Given the description of an element on the screen output the (x, y) to click on. 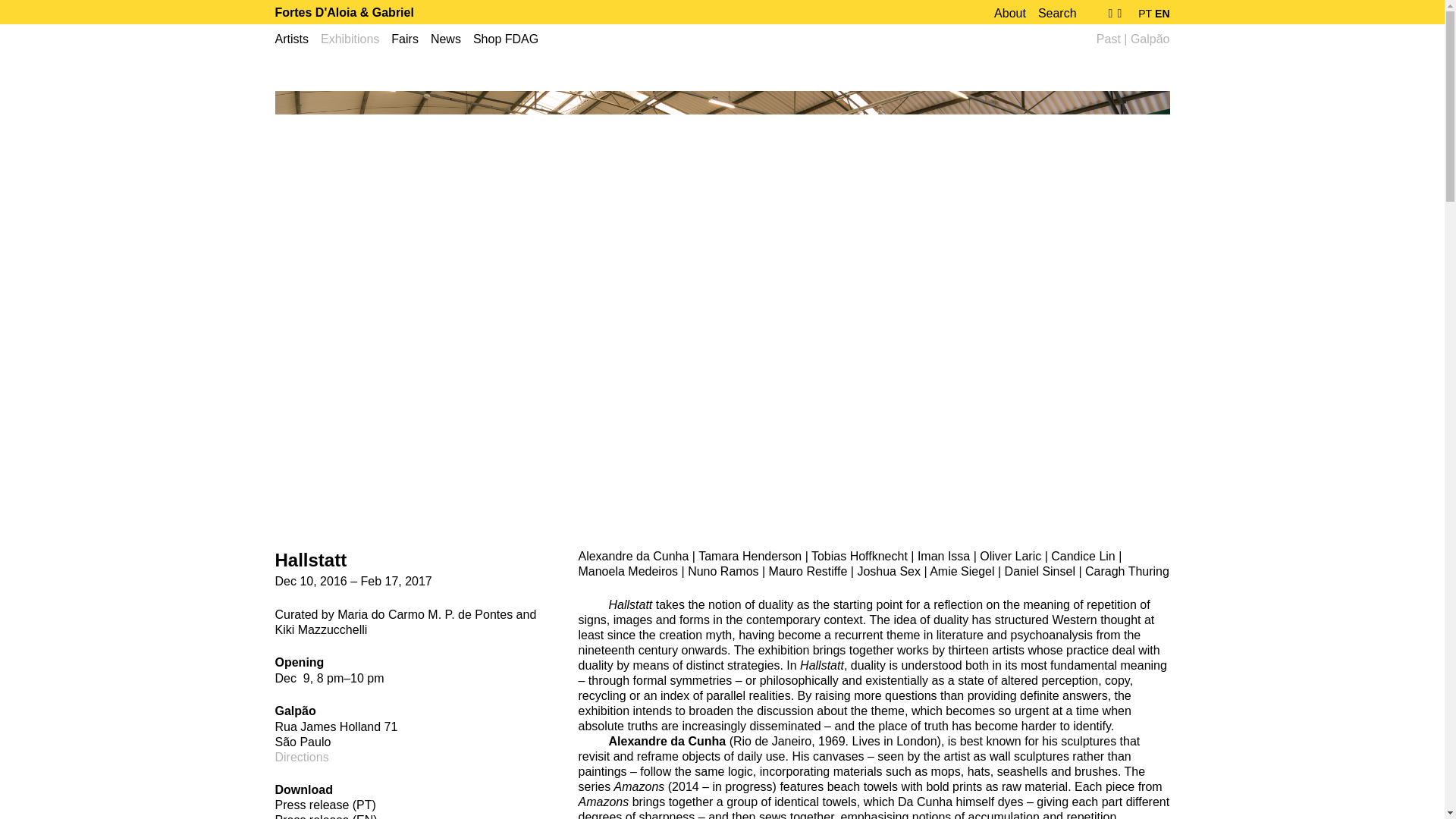
Directions (302, 757)
About (1016, 13)
Search (1063, 13)
Shop FDAG (511, 38)
Mauro Restiffe (807, 571)
PT (1144, 13)
Fairs (410, 38)
Nuno Ramos (722, 571)
Exhibitions (355, 38)
News (451, 38)
Artists (297, 38)
